Given the description of an element on the screen output the (x, y) to click on. 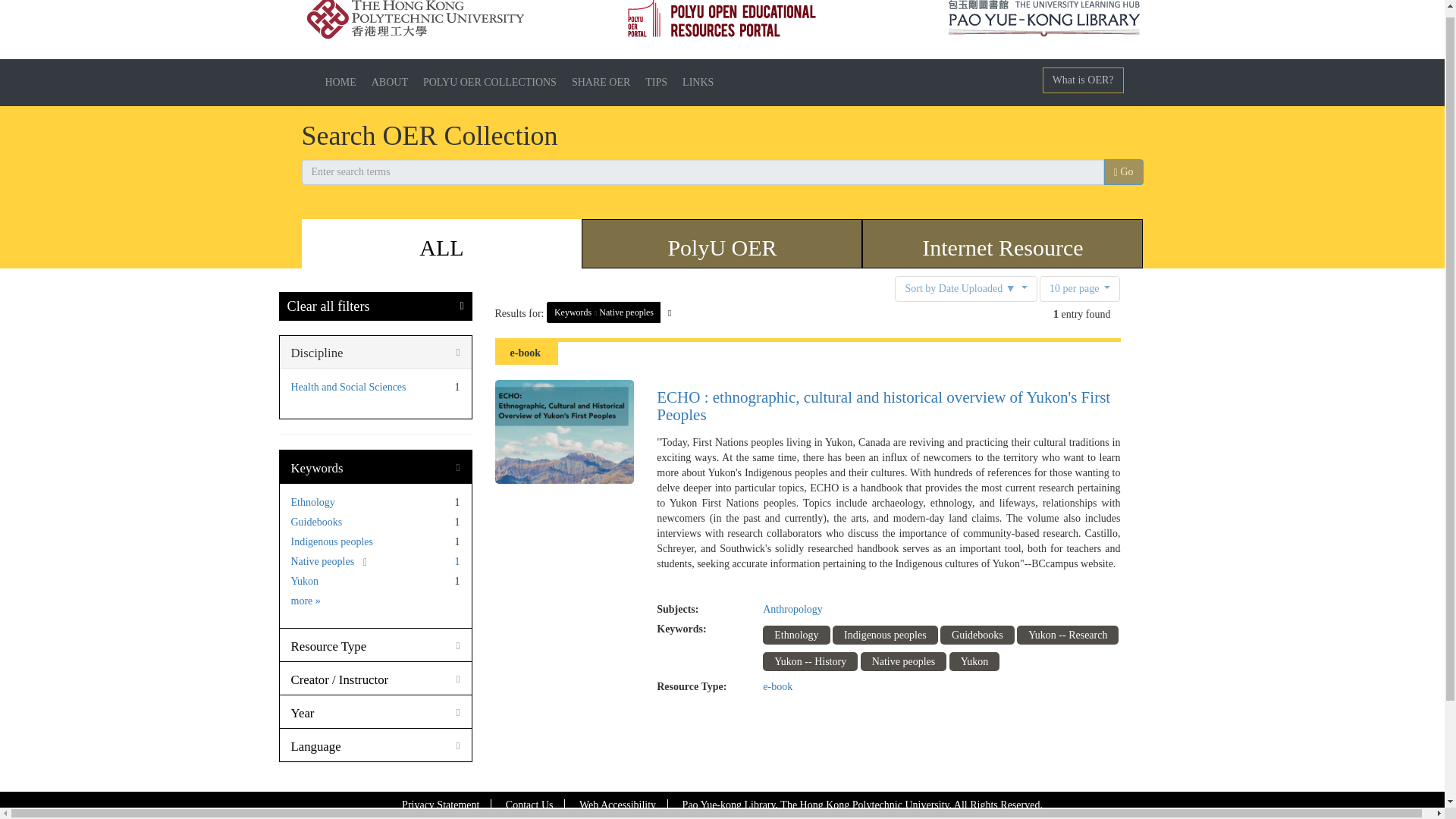
Go (1122, 171)
collapse expand (328, 646)
Native peoples (625, 312)
collapse expand (317, 468)
LINKS (697, 82)
Yukon (304, 581)
SHARE OER (600, 82)
collapse expand (302, 712)
collapse expand (317, 352)
Internet Resource (1003, 247)
